Given the description of an element on the screen output the (x, y) to click on. 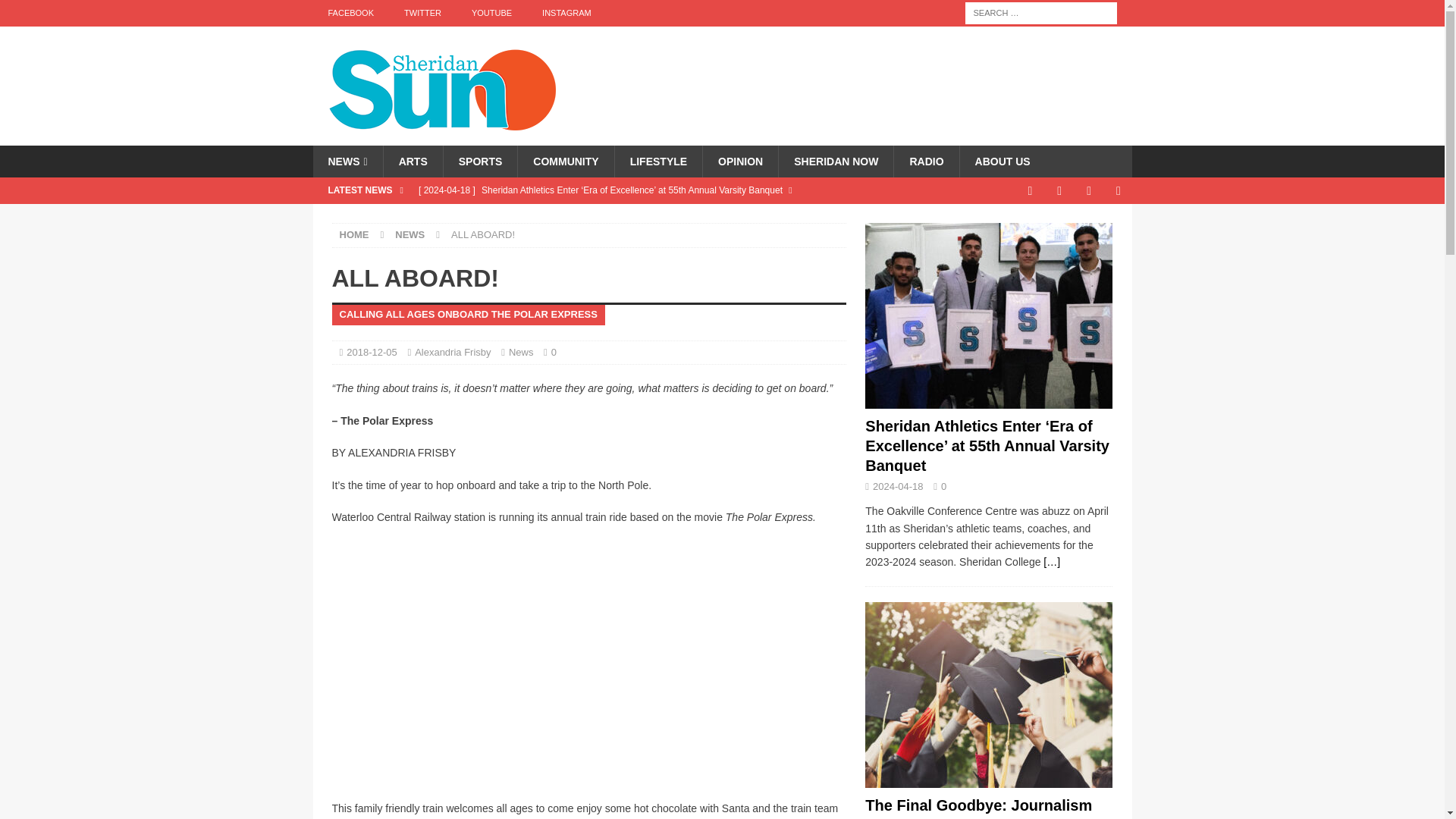
FACEBOOK (350, 13)
ABOUT US (1002, 161)
ARTS (412, 161)
INSTAGRAM (567, 13)
LIFESTYLE (657, 161)
TWITTER (422, 13)
SHERIDAN NOW (835, 161)
RADIO (925, 161)
YOUTUBE (492, 13)
COMMUNITY (564, 161)
